Given the description of an element on the screen output the (x, y) to click on. 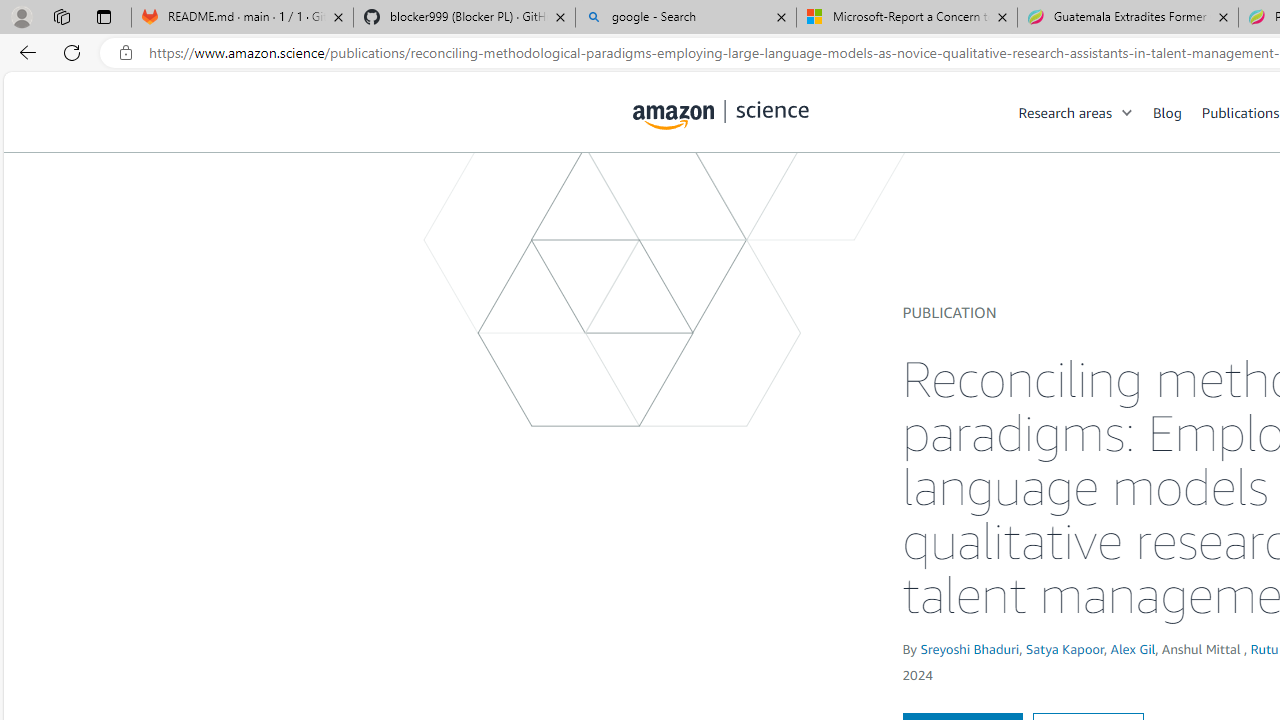
Research areas (1085, 111)
home page (721, 110)
amazon-science-logo.svg (721, 115)
Sreyoshi Bhaduri (970, 648)
Research areas (1065, 111)
Class: icon-magnify (654, 192)
PUBLICATION (949, 312)
Satya Kapoor (1064, 648)
Open Sub Navigation (1128, 111)
